Given the description of an element on the screen output the (x, y) to click on. 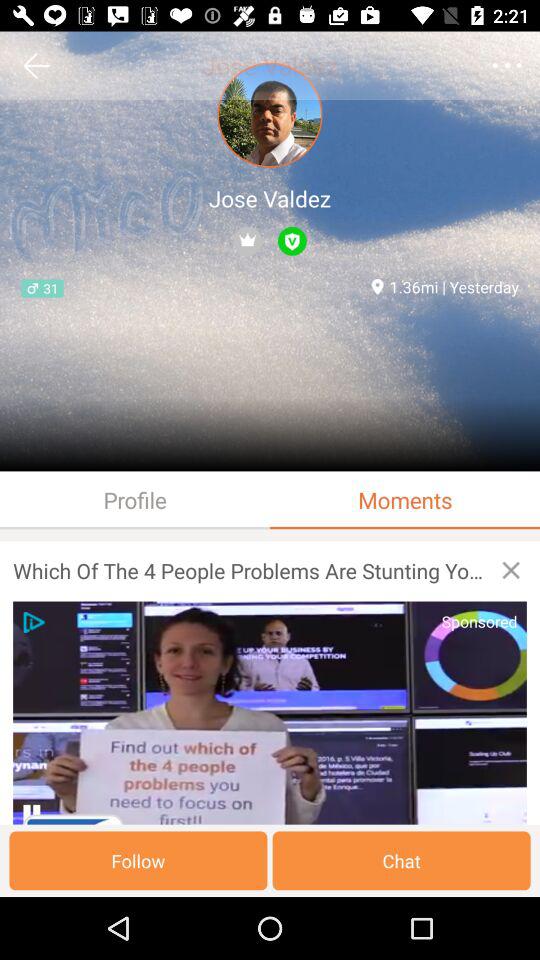
click the backward button (36, 65)
click on the profile picture (270, 115)
click the follow button on the web page (137, 860)
click on the v icon below jose valdez (292, 241)
click on the 2nd icon below jose valdez (292, 241)
select the close button on the web page (510, 569)
click the profile picture button below the jose valdez (270, 115)
